Given the description of an element on the screen output the (x, y) to click on. 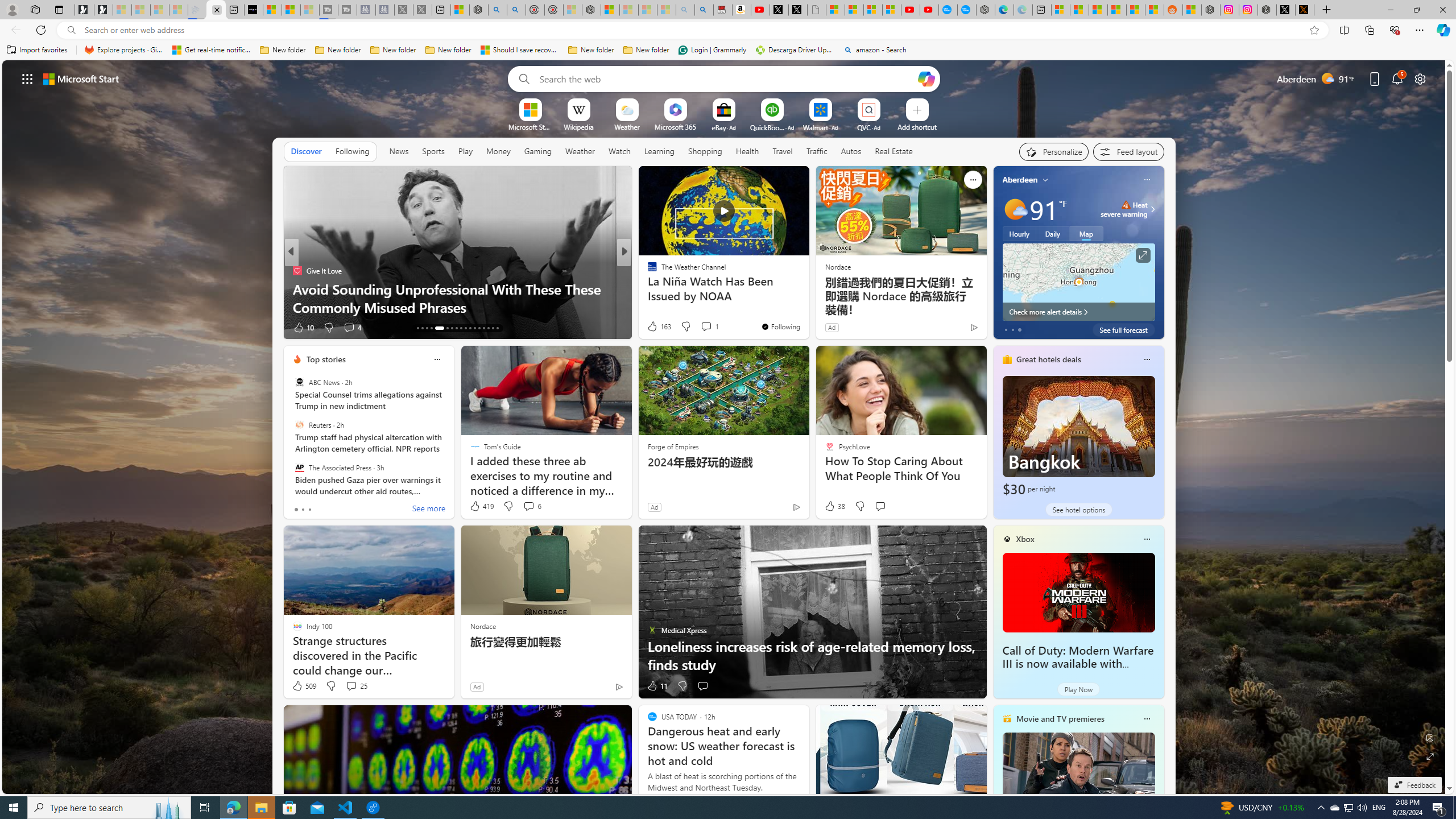
AutomationID: tab-17 (436, 328)
Check more alert details (1077, 311)
View comments 91 Comment (704, 327)
Aberdeen (1019, 179)
View comments 124 Comment (709, 327)
419 Like (480, 505)
Heat - Severe (1126, 204)
Click to see more information (1142, 255)
AutomationID: tab-50 (483, 328)
492 Like (654, 327)
View comments 1 Comment (705, 326)
tab-2 (309, 509)
